Given the description of an element on the screen output the (x, y) to click on. 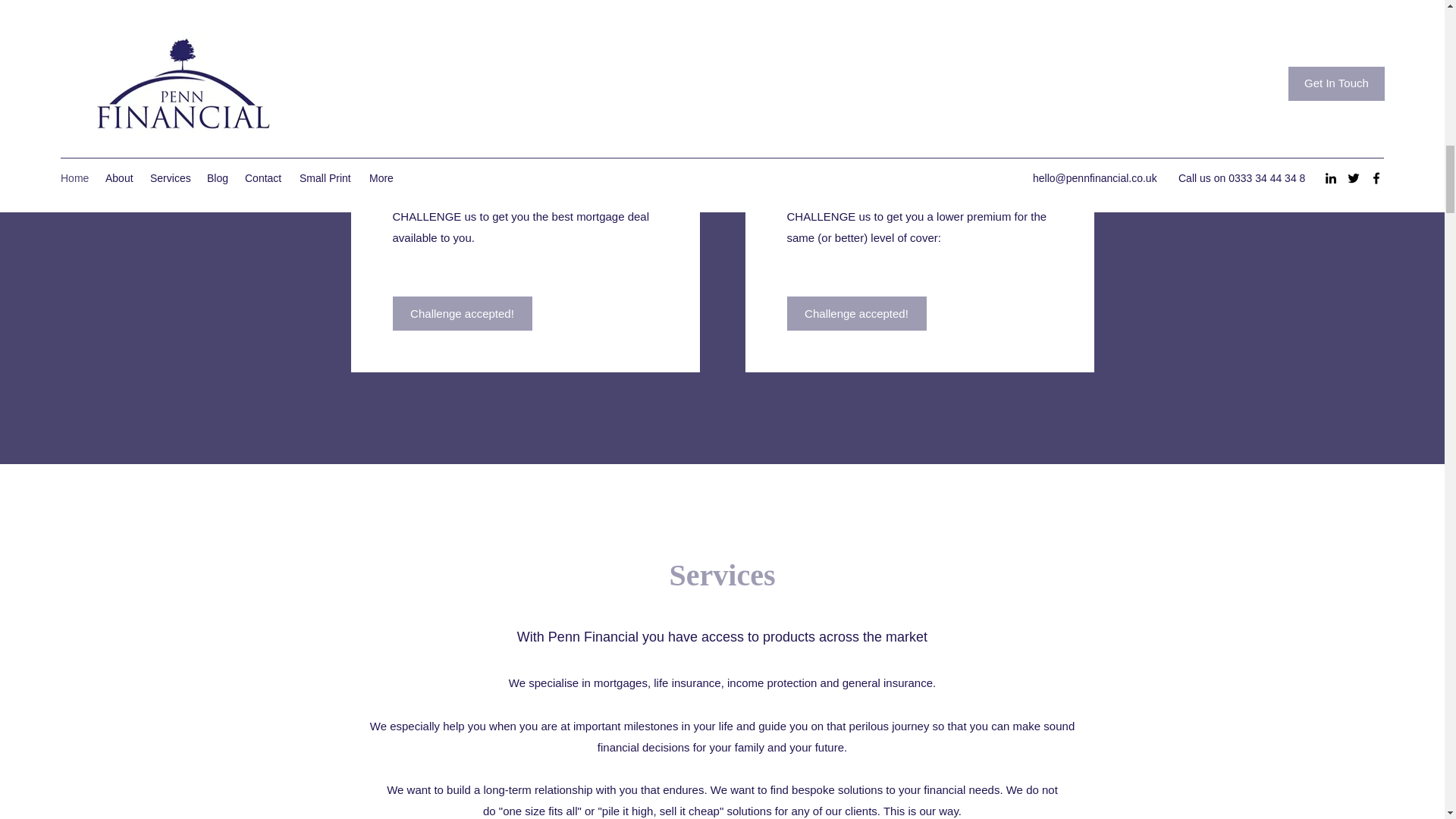
Challenge accepted! (856, 313)
Challenge accepted! (462, 313)
